Given the description of an element on the screen output the (x, y) to click on. 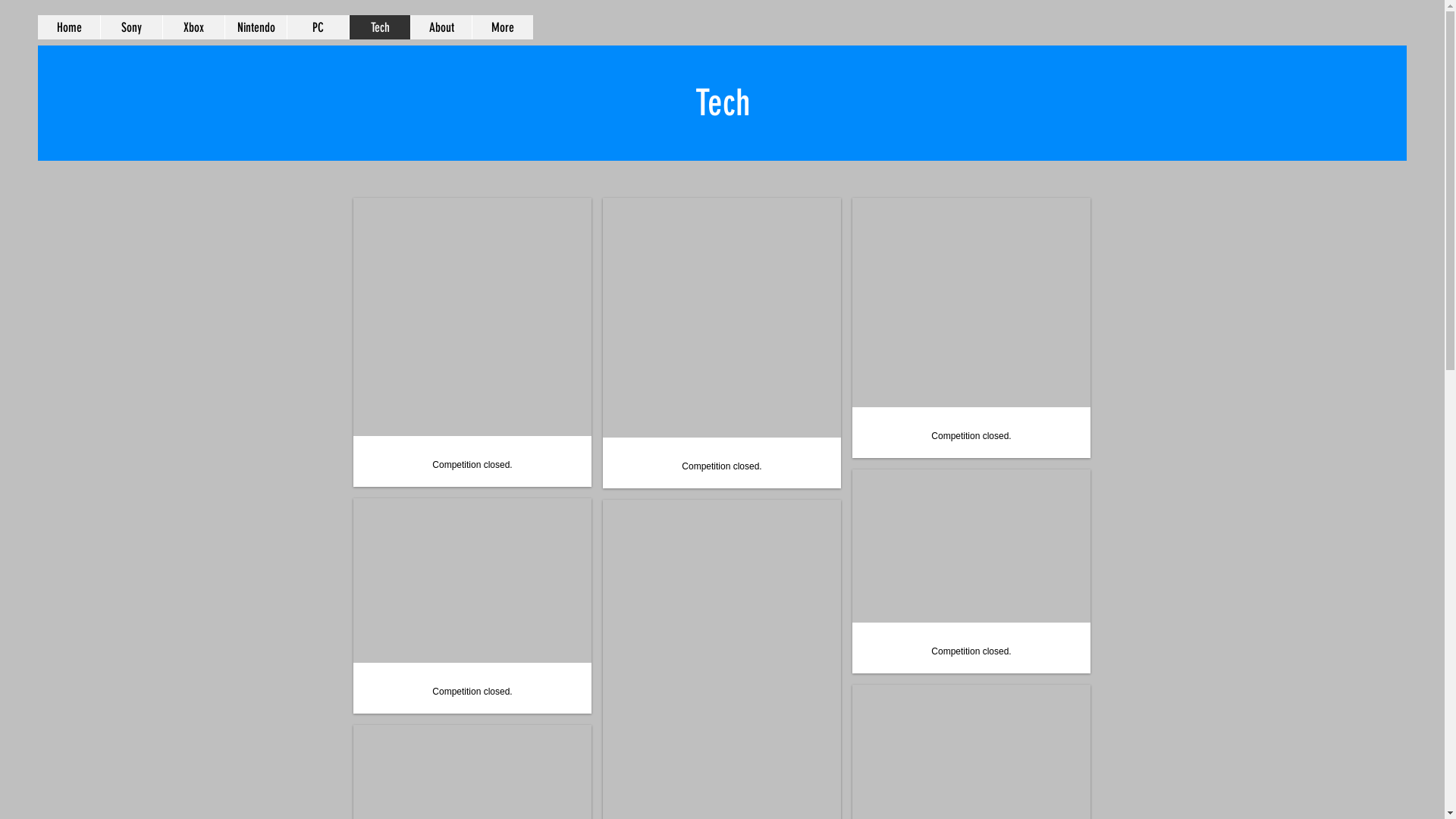
Tech Element type: text (379, 27)
Xbox Element type: text (193, 27)
Home Element type: text (68, 27)
Sony Element type: text (131, 27)
PC Element type: text (317, 27)
Nintendo Element type: text (255, 27)
About Element type: text (440, 27)
